Given the description of an element on the screen output the (x, y) to click on. 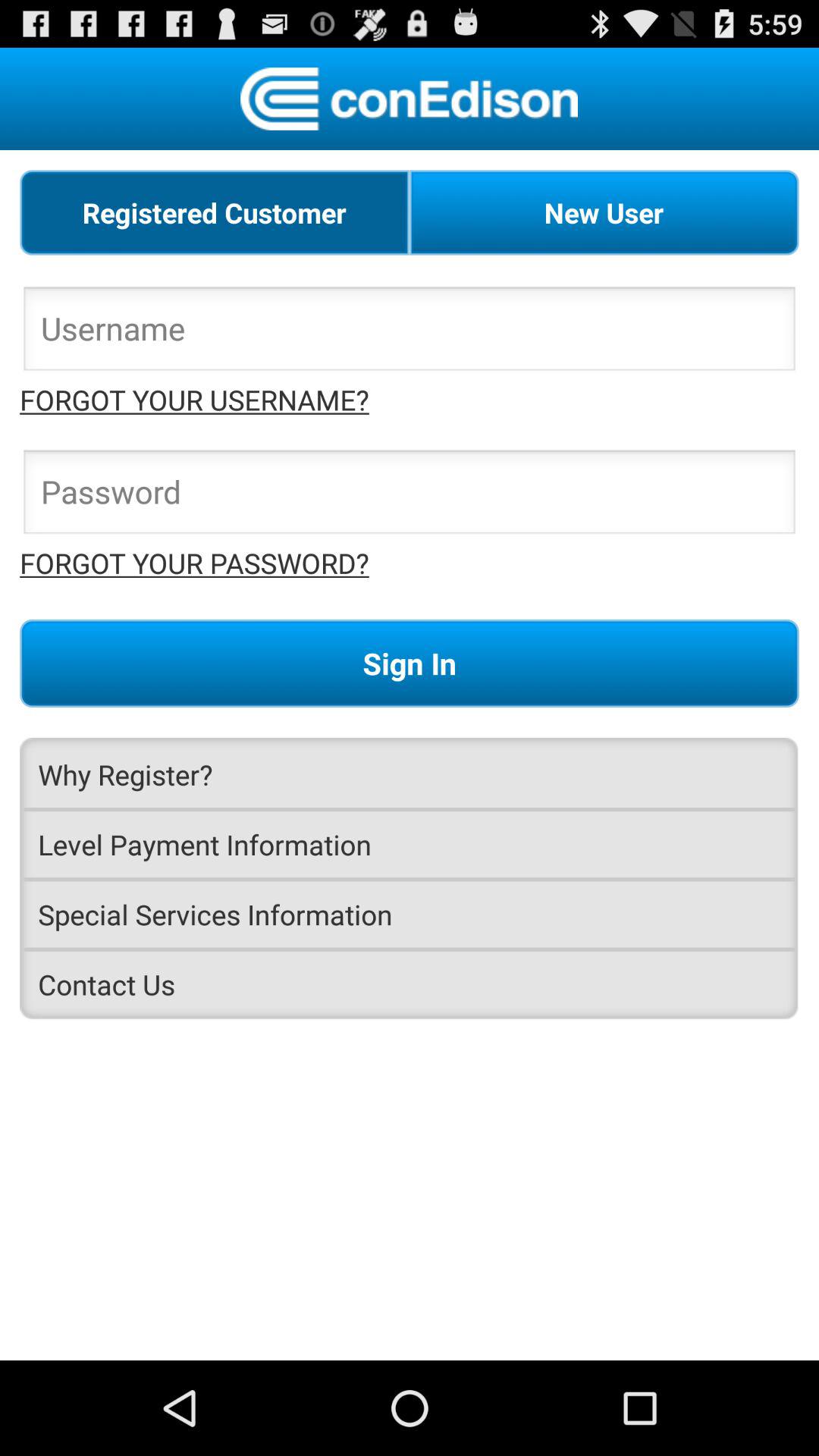
enter username (409, 333)
